Given the description of an element on the screen output the (x, y) to click on. 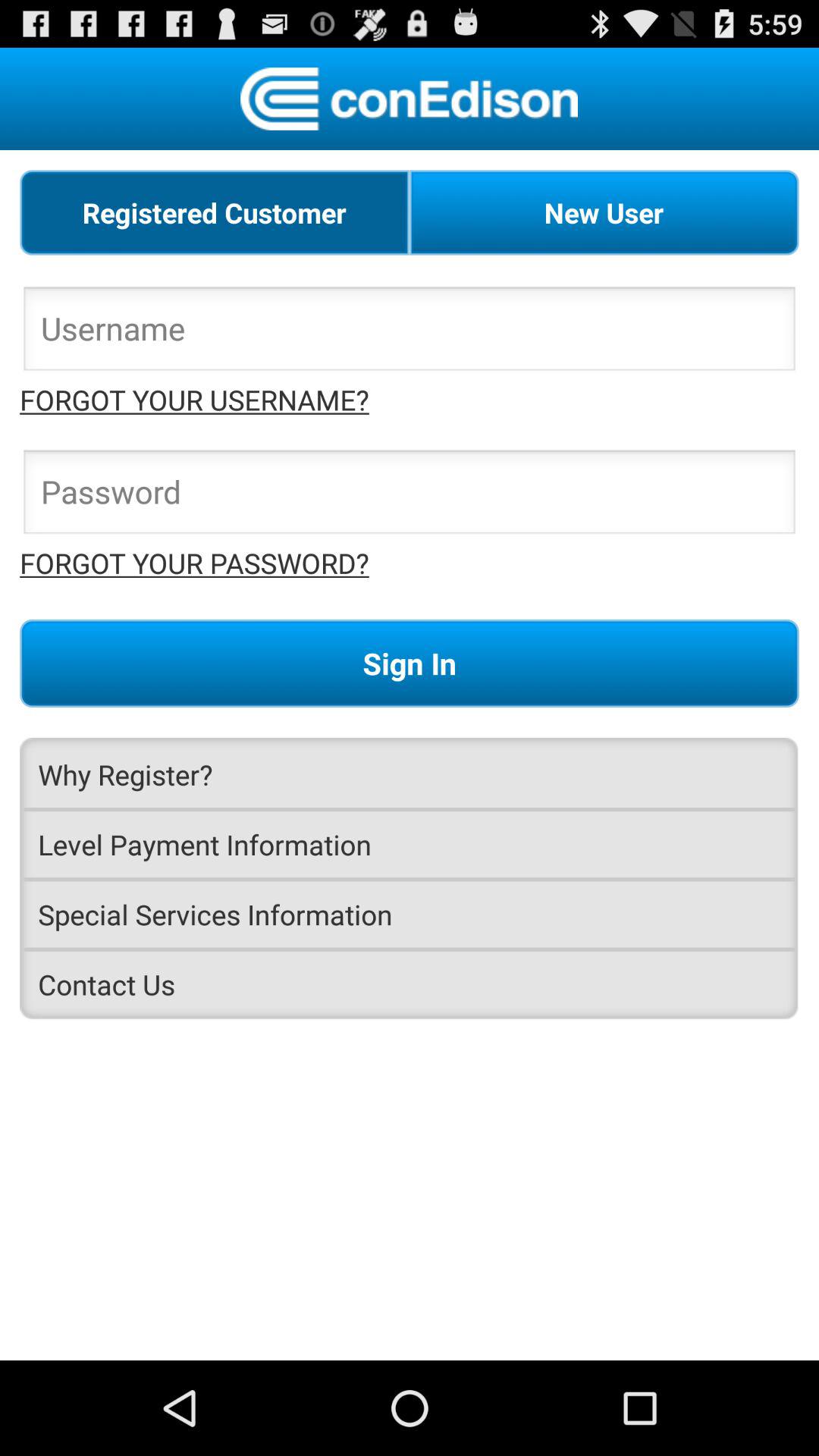
enter username (409, 333)
